Given the description of an element on the screen output the (x, y) to click on. 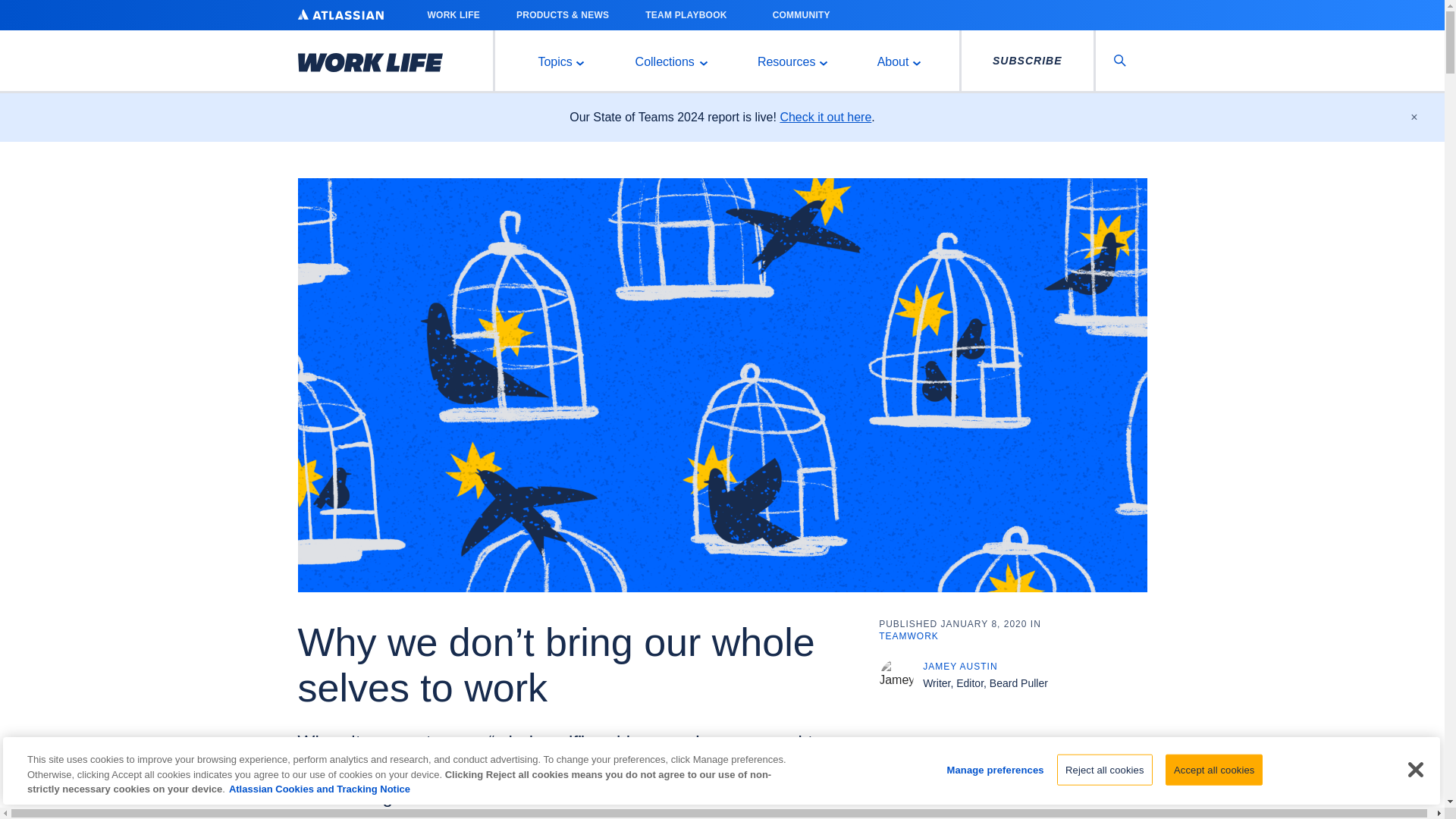
TEAM PLAYBOOK (690, 14)
COMMUNITY (806, 14)
Topics (559, 61)
WORK LIFE (454, 14)
ATLASSIAN (339, 14)
